Given the description of an element on the screen output the (x, y) to click on. 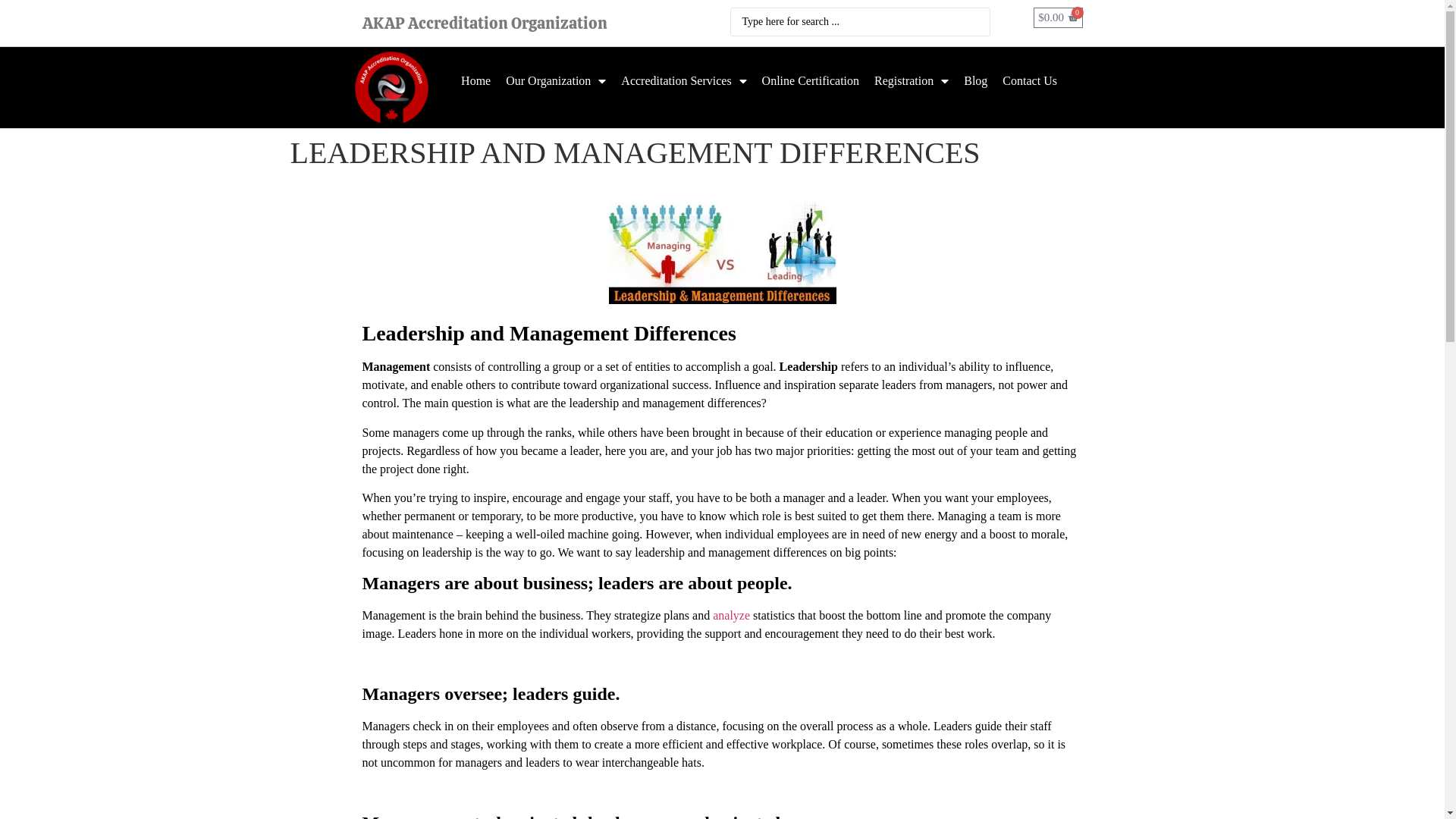
Home Element type: text (475, 80)
Accreditation Services Element type: text (683, 80)
Contact Us Element type: text (1029, 80)
Blog Element type: text (975, 80)
analyze Element type: text (730, 614)
Online Certification Element type: text (810, 80)
Registration Element type: text (911, 80)
$0.00
0 Element type: text (1057, 17)
Our Organization Element type: text (555, 80)
